Given the description of an element on the screen output the (x, y) to click on. 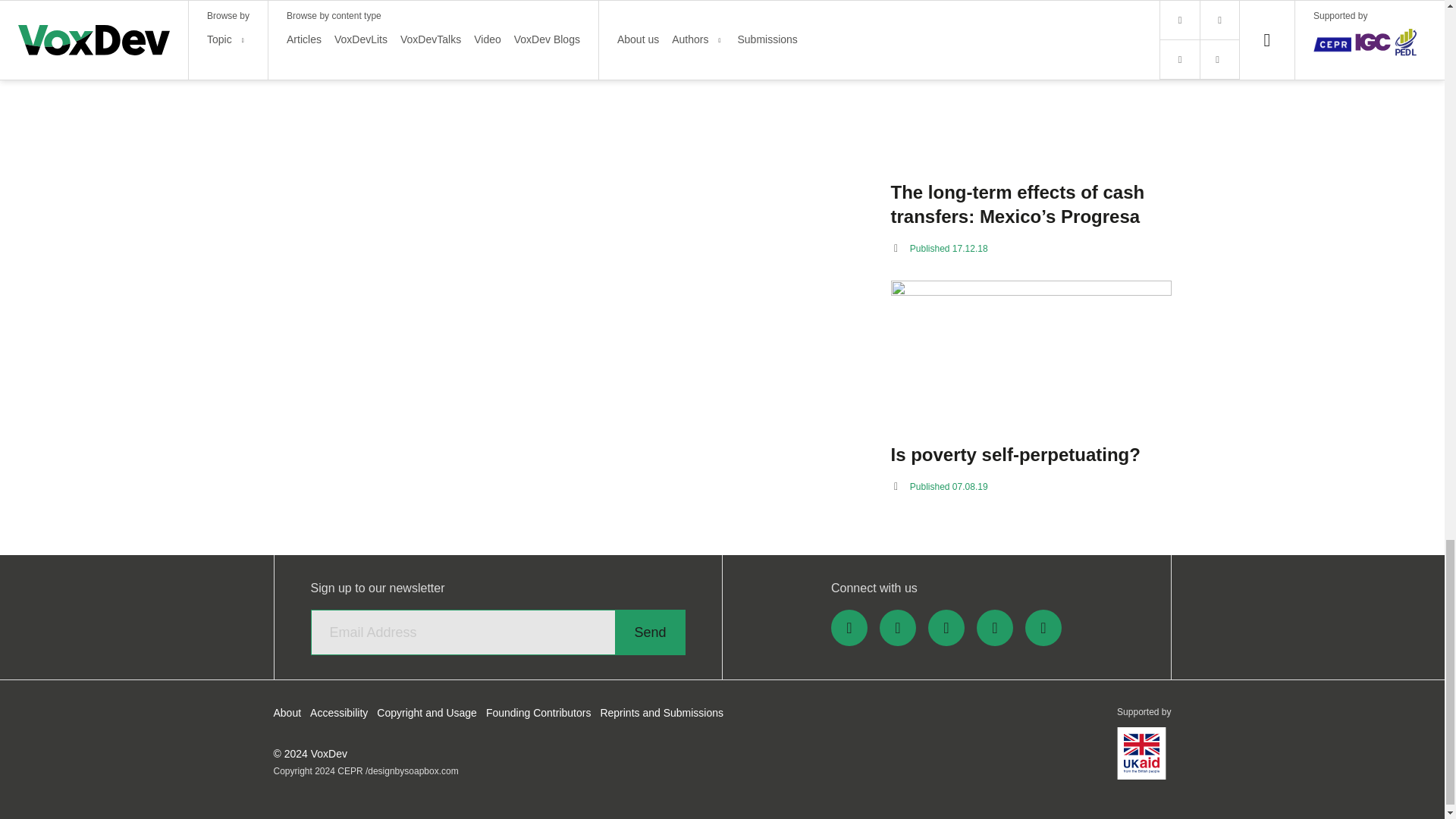
Send (649, 632)
Is poverty self-perpetuating? (1029, 454)
Is poverty self-perpetuating? (1029, 355)
